Given the description of an element on the screen output the (x, y) to click on. 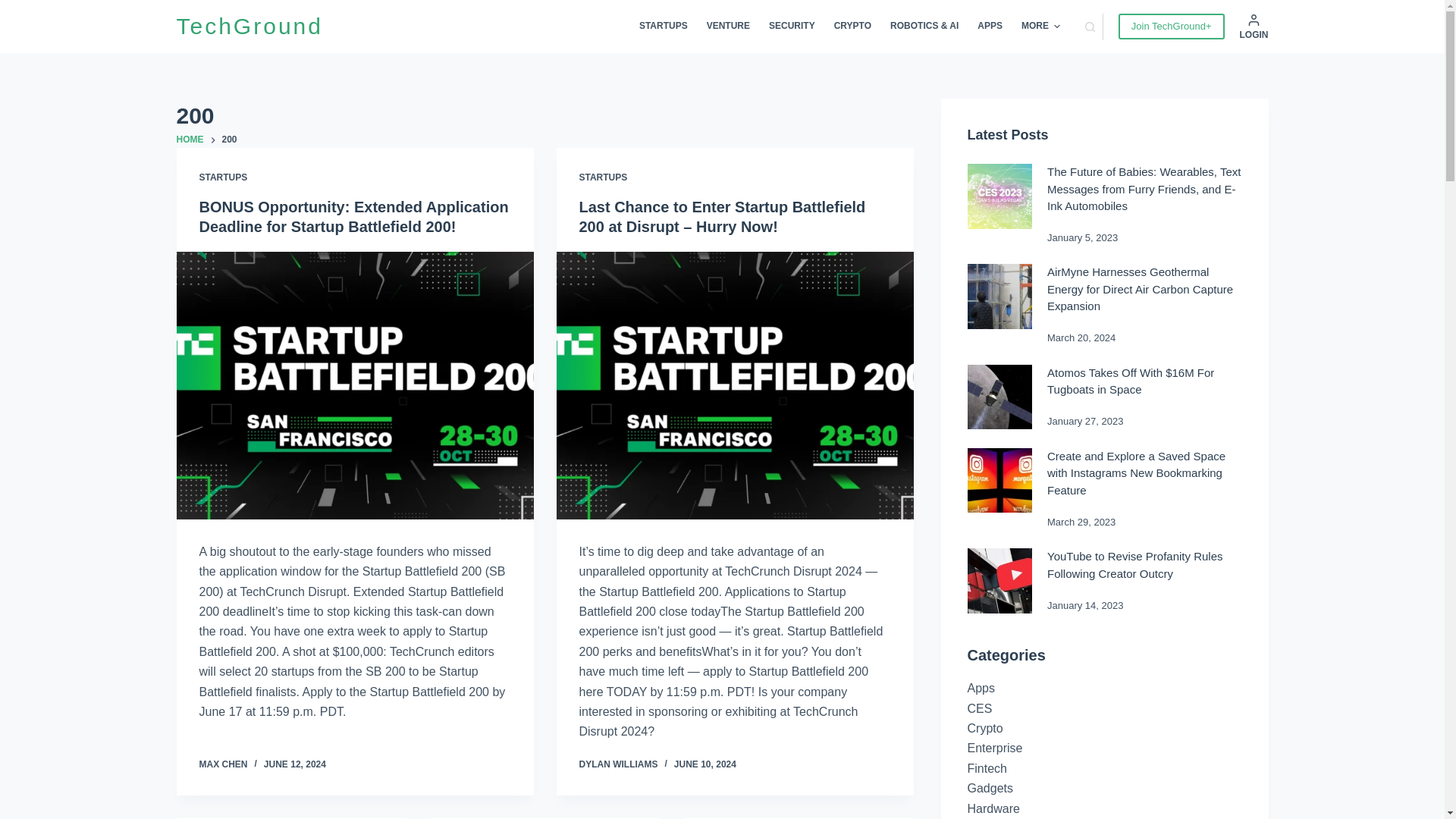
MORE (1039, 26)
200 (544, 115)
Posts by Max Chen (222, 764)
Skip to content (15, 7)
SECURITY (792, 26)
TechGround (248, 25)
Posts by Dylan Williams (618, 764)
STARTUPS (662, 26)
VENTURE (727, 26)
CRYPTO (852, 26)
